Given the description of an element on the screen output the (x, y) to click on. 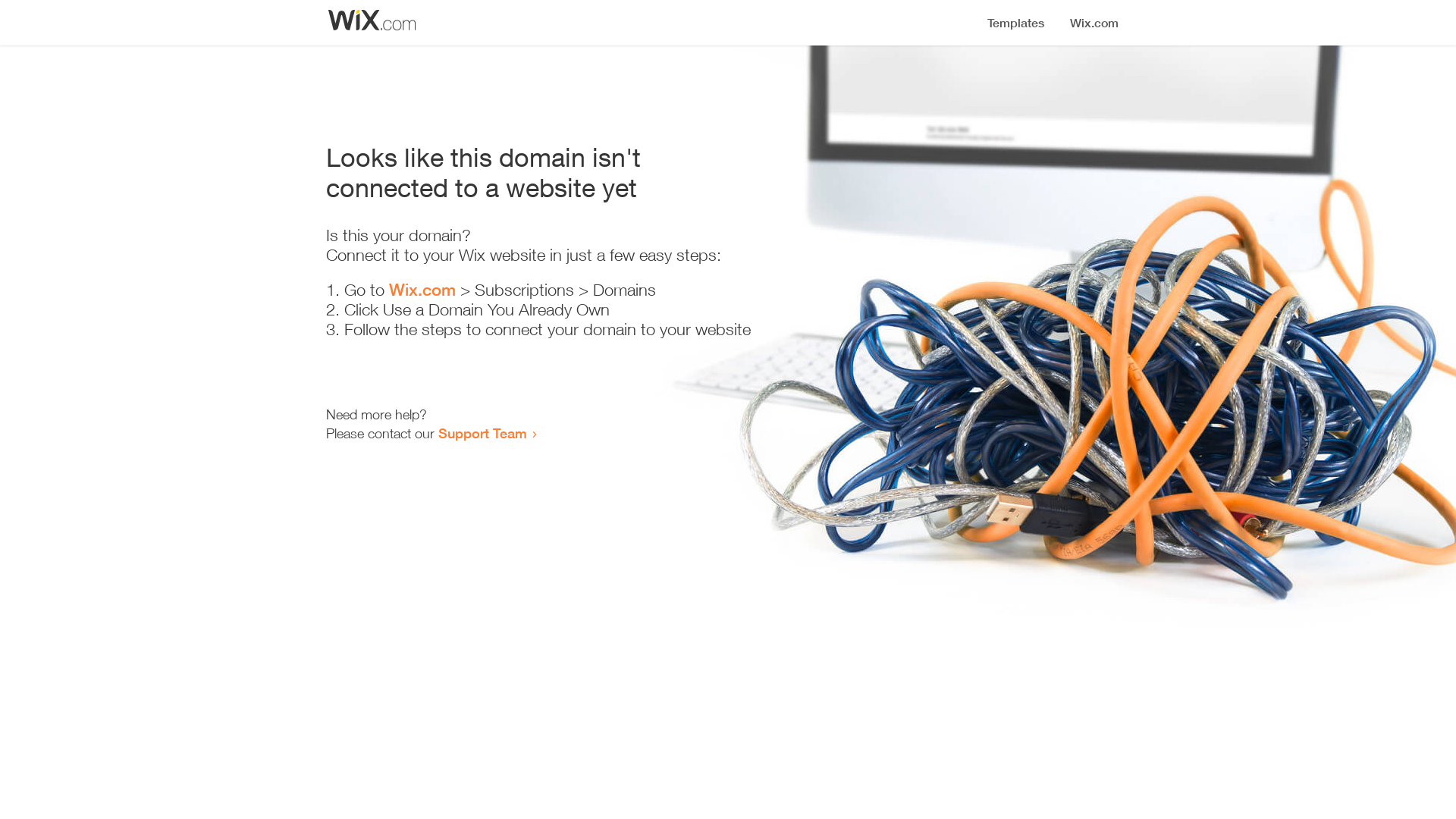
Wix.com Element type: text (422, 289)
Support Team Element type: text (482, 432)
